Given the description of an element on the screen output the (x, y) to click on. 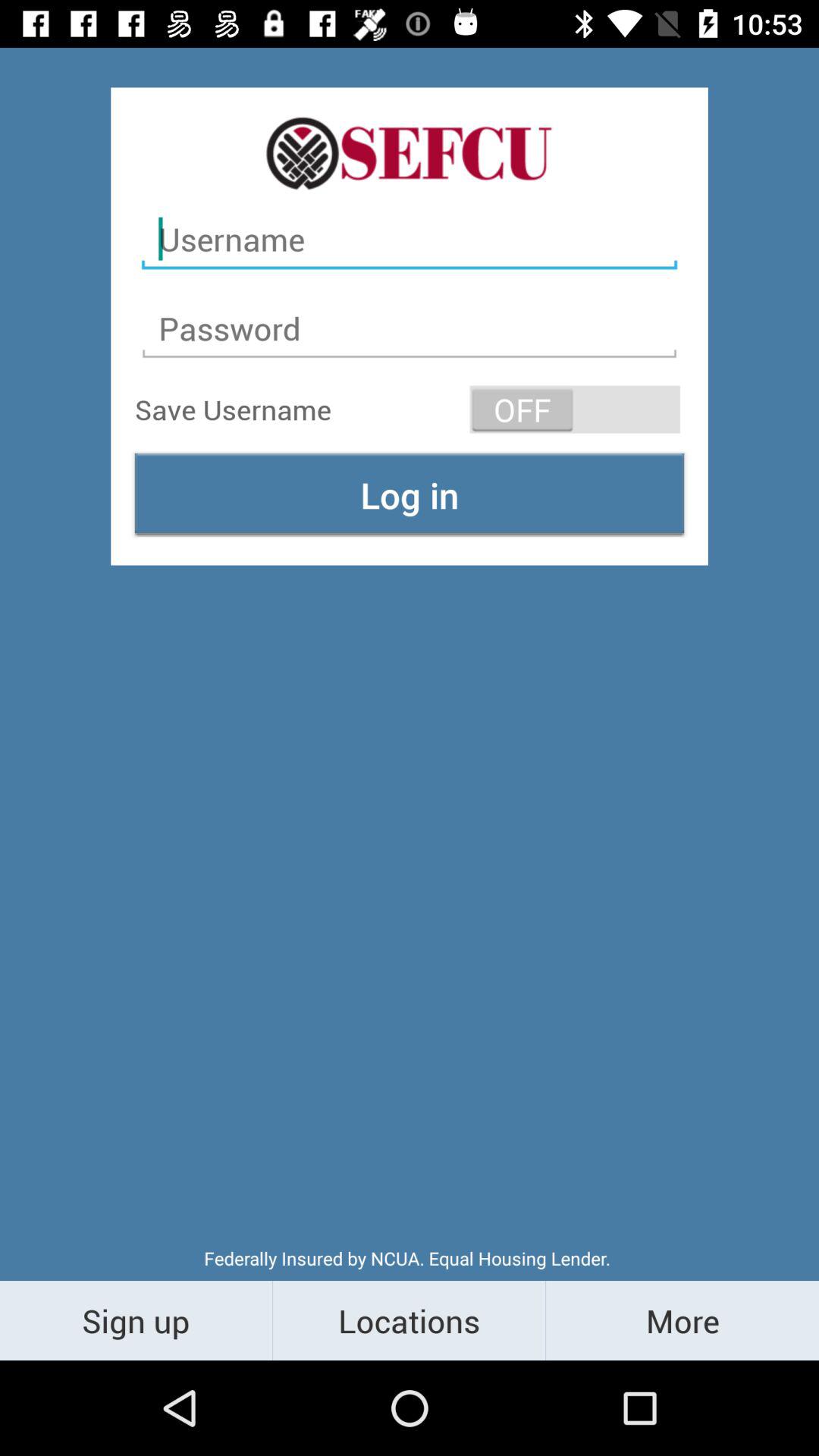
press the item to the right of sign up item (409, 1320)
